Given the description of an element on the screen output the (x, y) to click on. 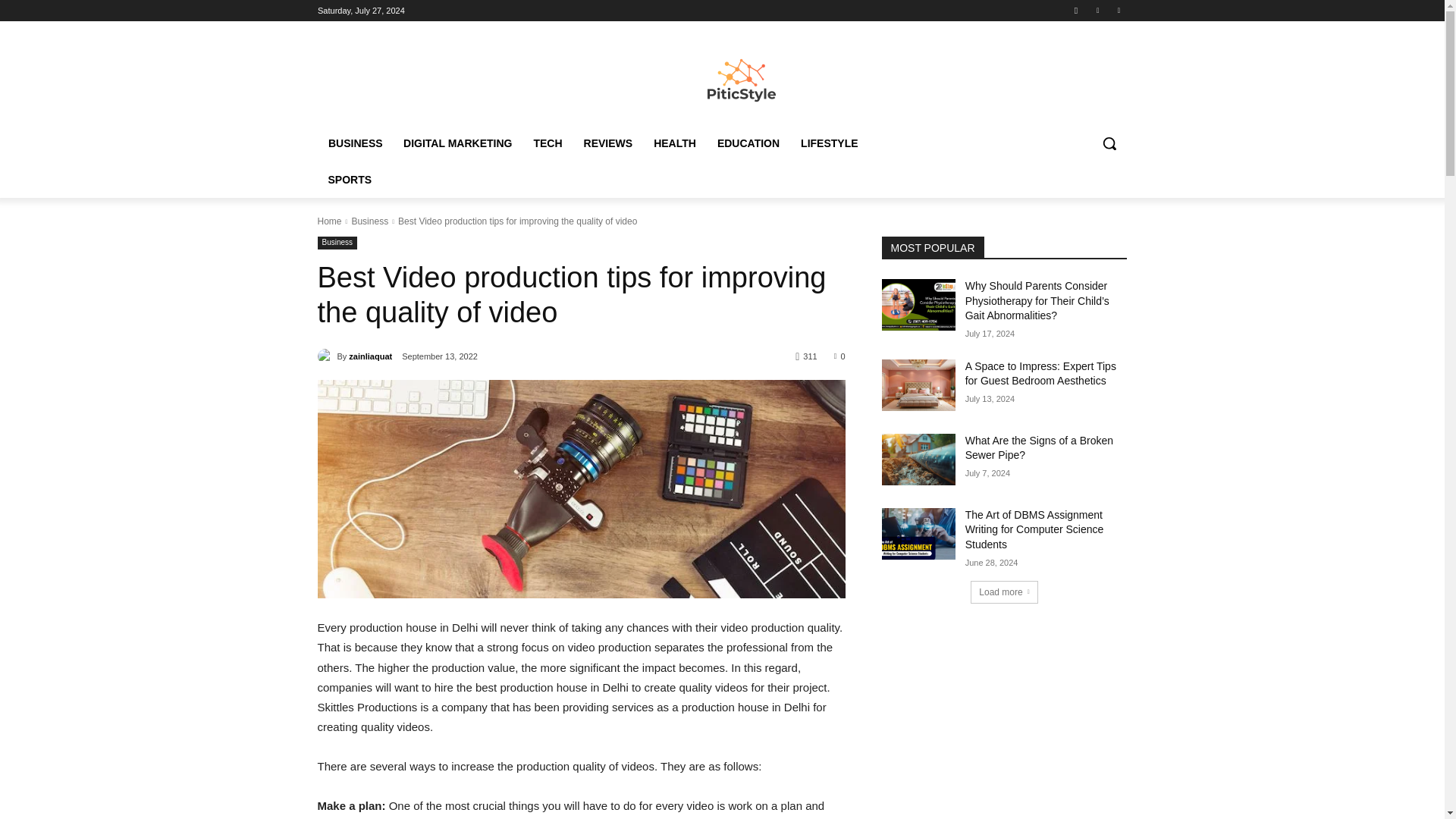
EDUCATION (748, 143)
LIFESTYLE (828, 143)
zainliaquat (326, 355)
Facebook (1075, 9)
TECH (547, 143)
BUSINESS (355, 143)
SPORTS (349, 179)
View all posts in Business (369, 221)
Twitter (1117, 9)
HEALTH (674, 143)
Video Production (580, 489)
Pinterest (1097, 9)
REVIEWS (608, 143)
DIGITAL MARKETING (457, 143)
